Given the description of an element on the screen output the (x, y) to click on. 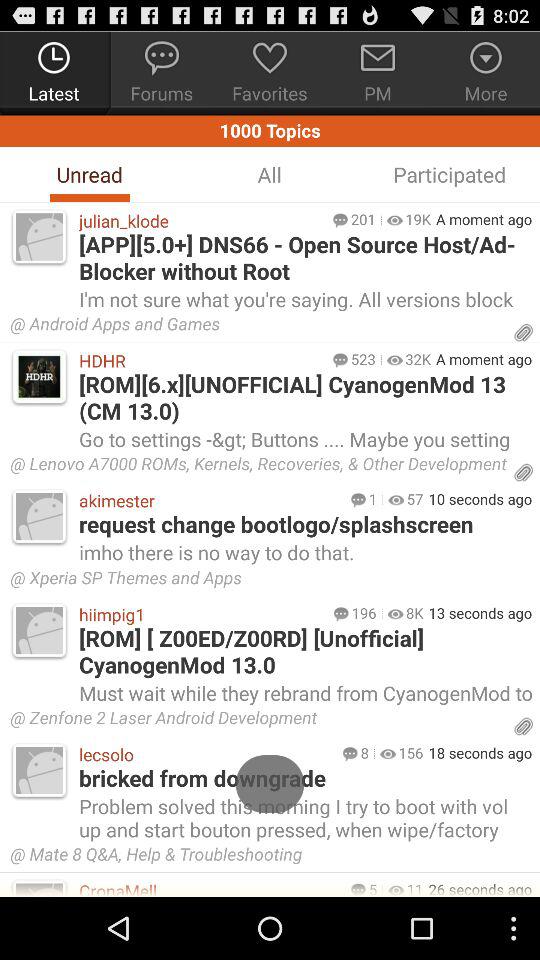
scroll to bricked from downgrade item (304, 777)
